Given the description of an element on the screen output the (x, y) to click on. 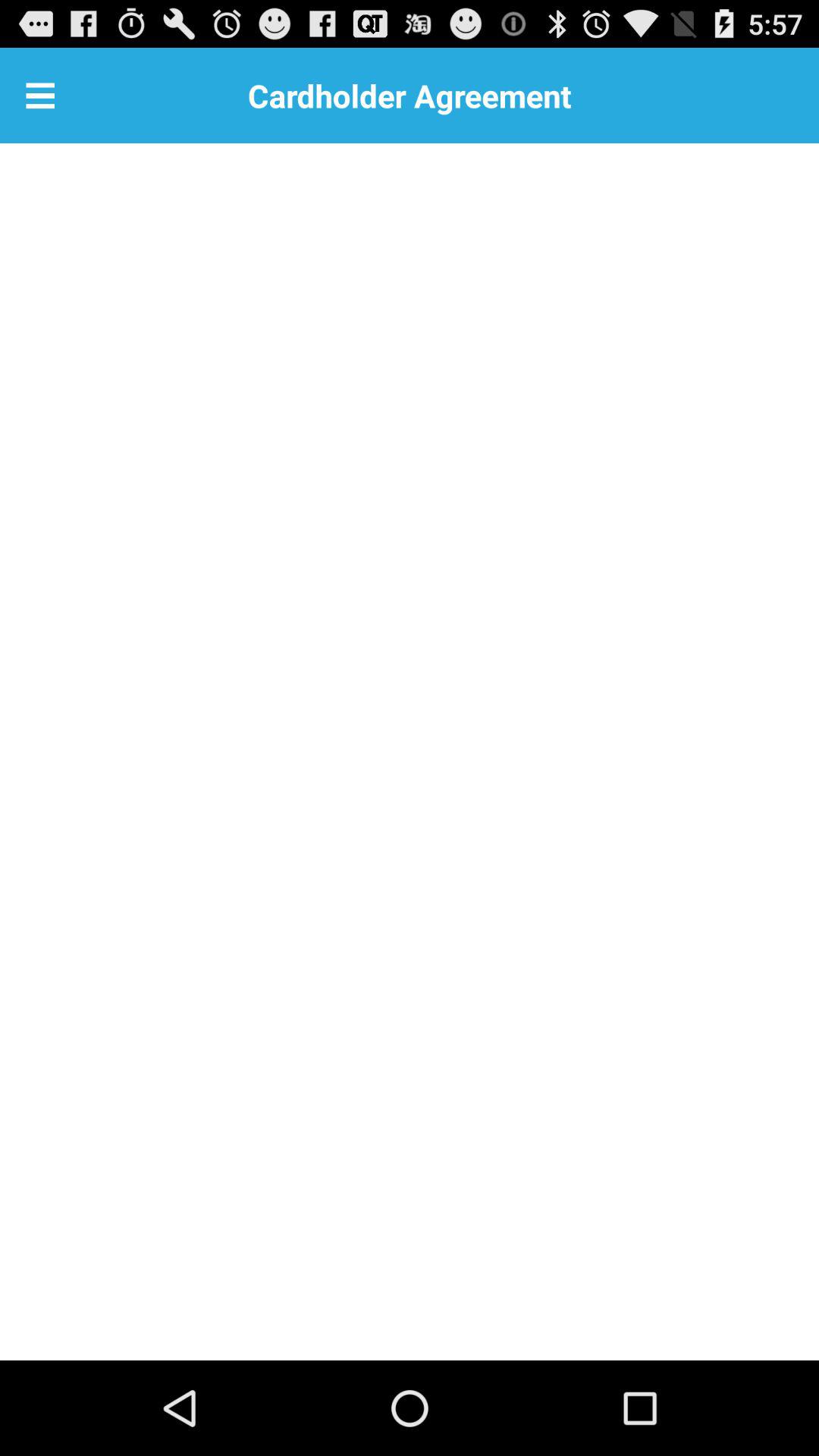
choose the item at the top left corner (39, 95)
